Given the description of an element on the screen output the (x, y) to click on. 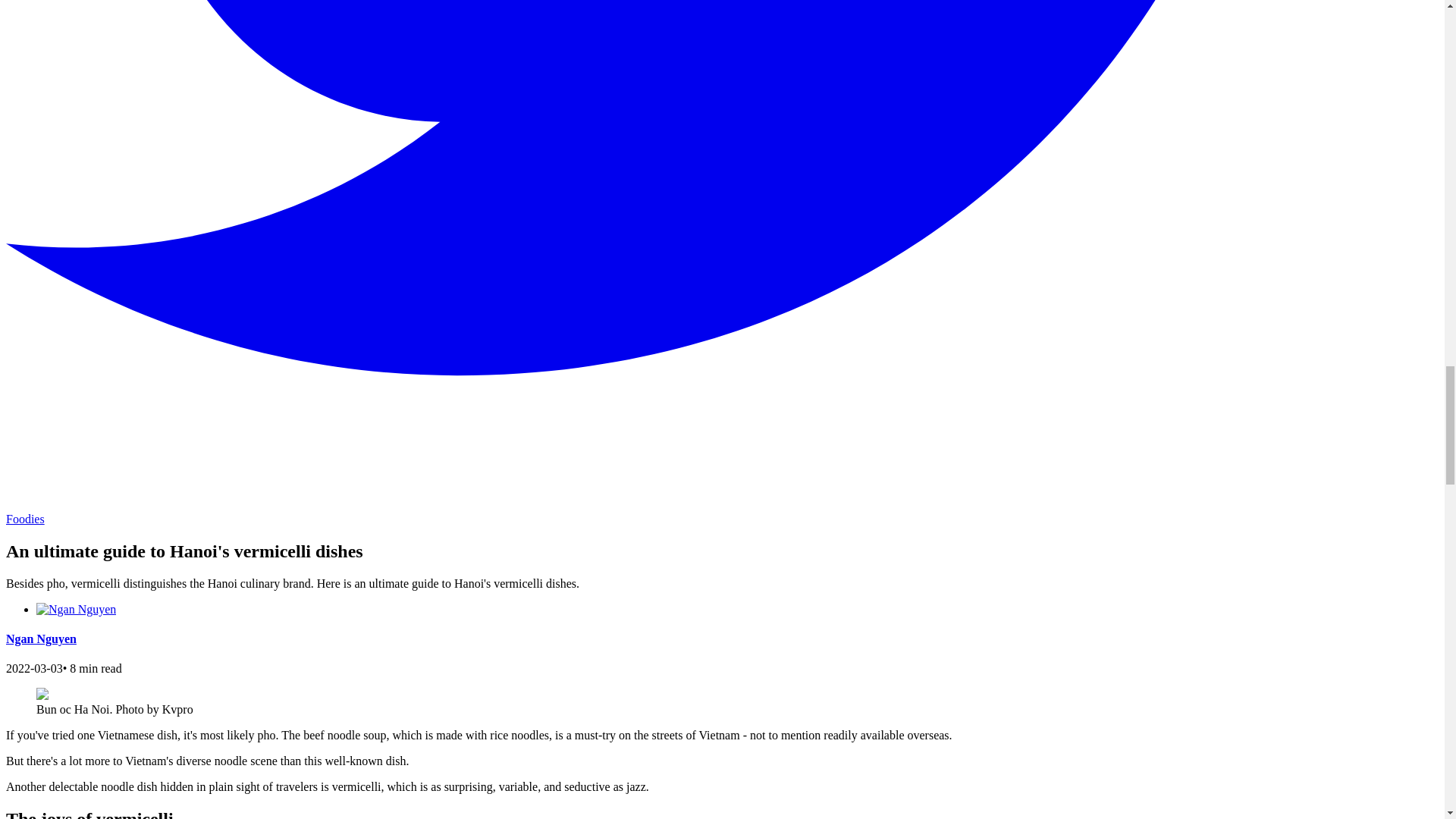
Ngan Nguyen (41, 638)
Foodies (25, 518)
